Given the description of an element on the screen output the (x, y) to click on. 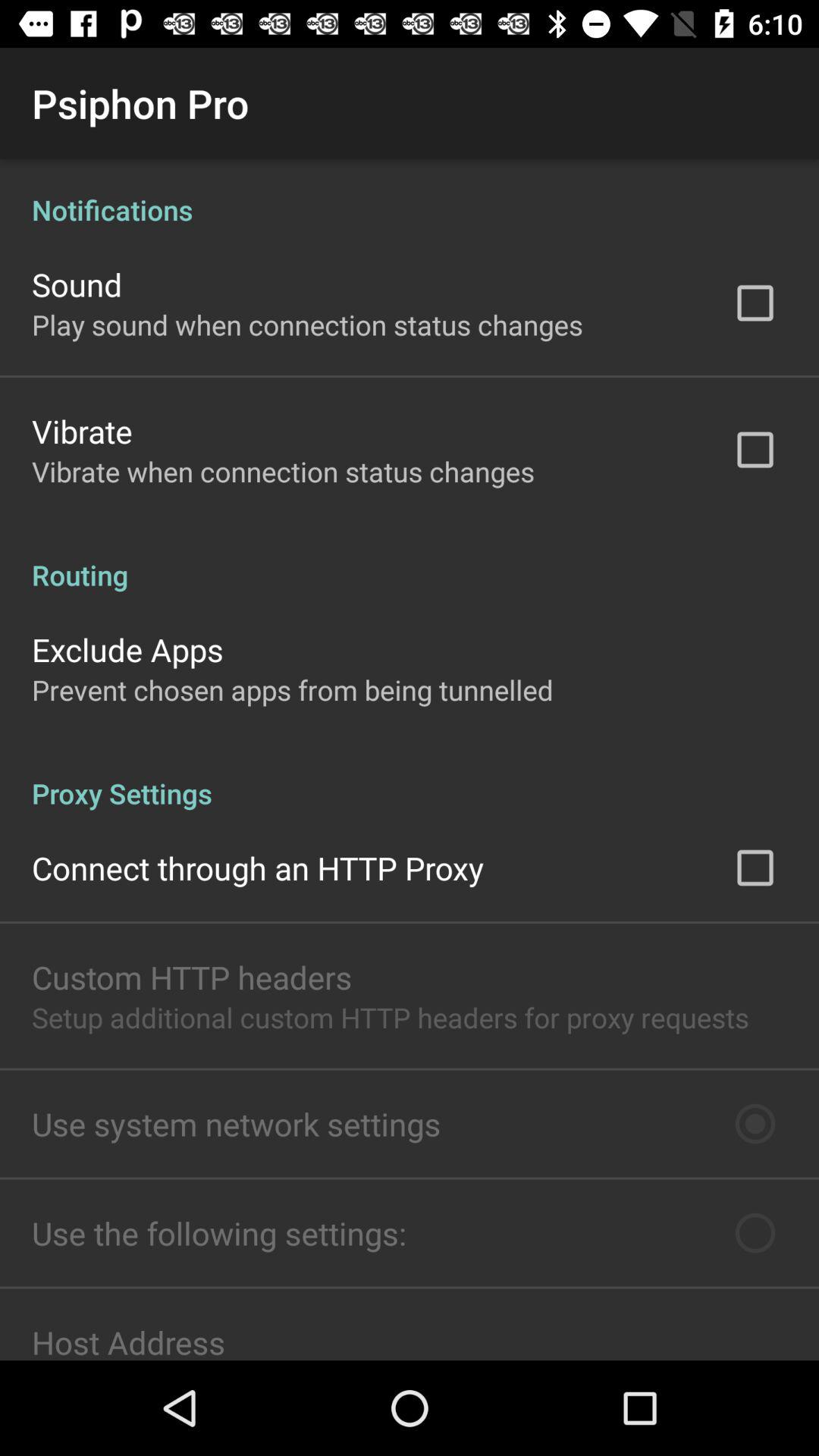
turn off the proxy settings item (409, 777)
